Given the description of an element on the screen output the (x, y) to click on. 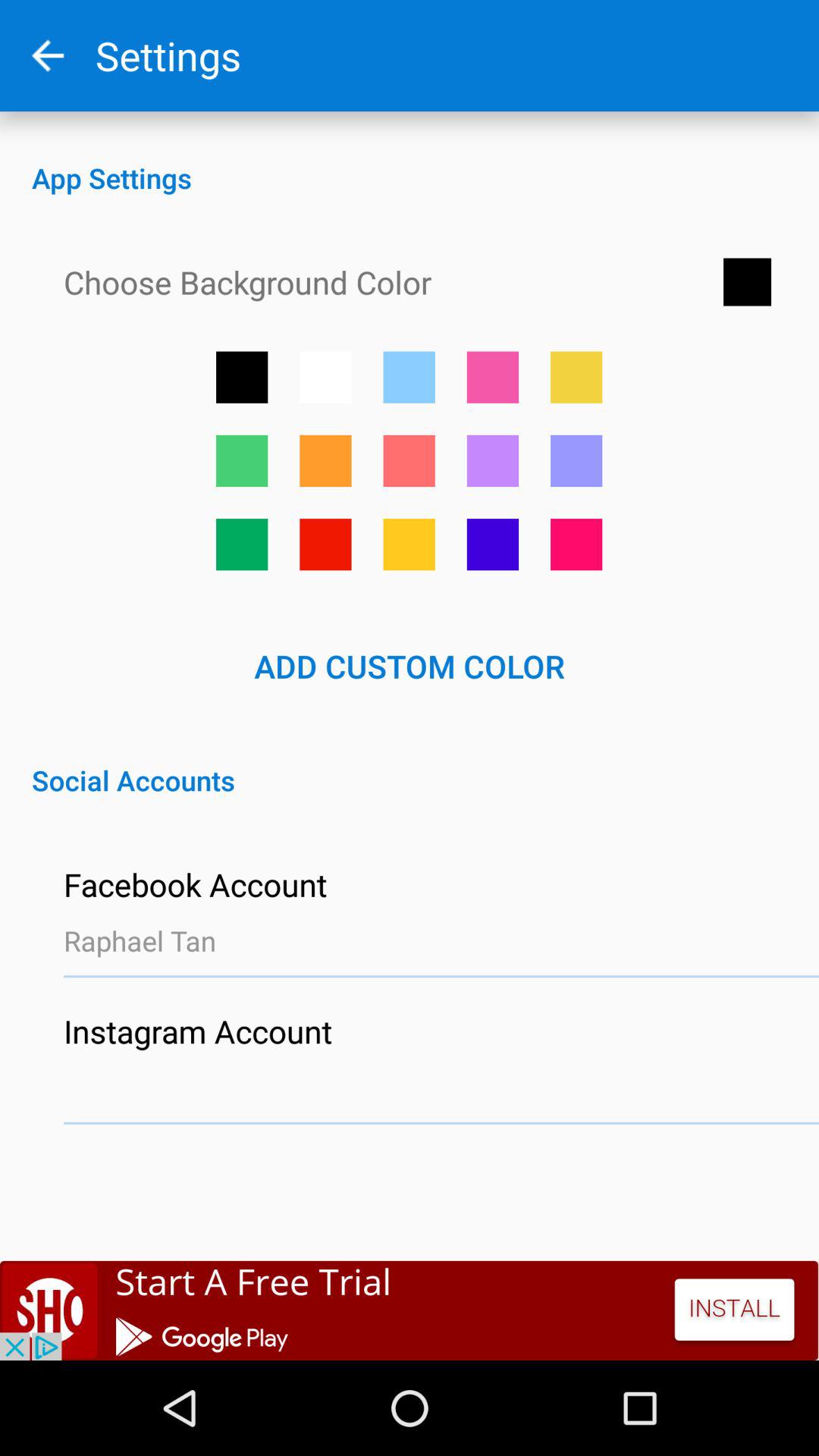
click button (409, 544)
